Given the description of an element on the screen output the (x, y) to click on. 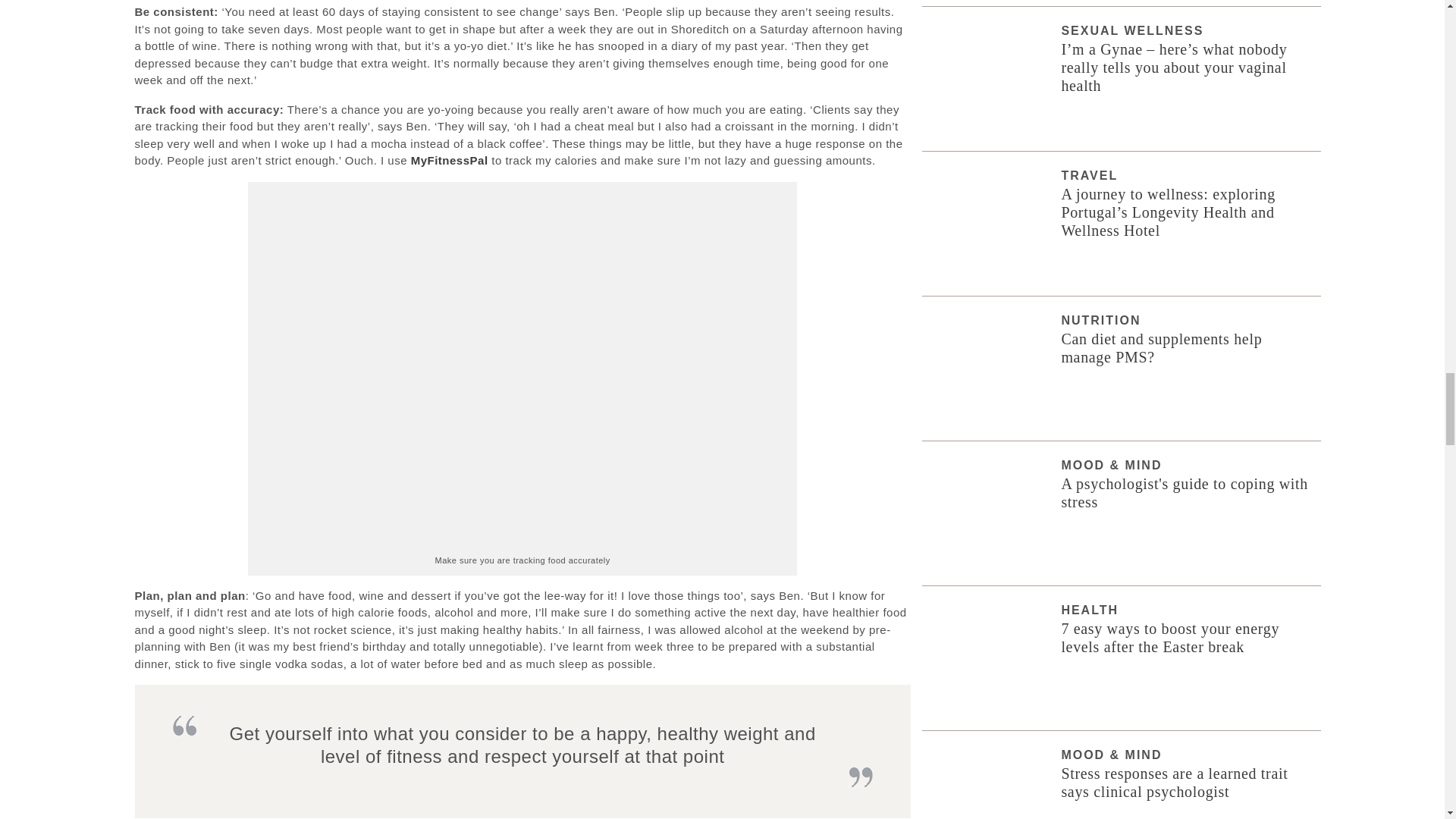
MyFitnessPal (448, 160)
